Given the description of an element on the screen output the (x, y) to click on. 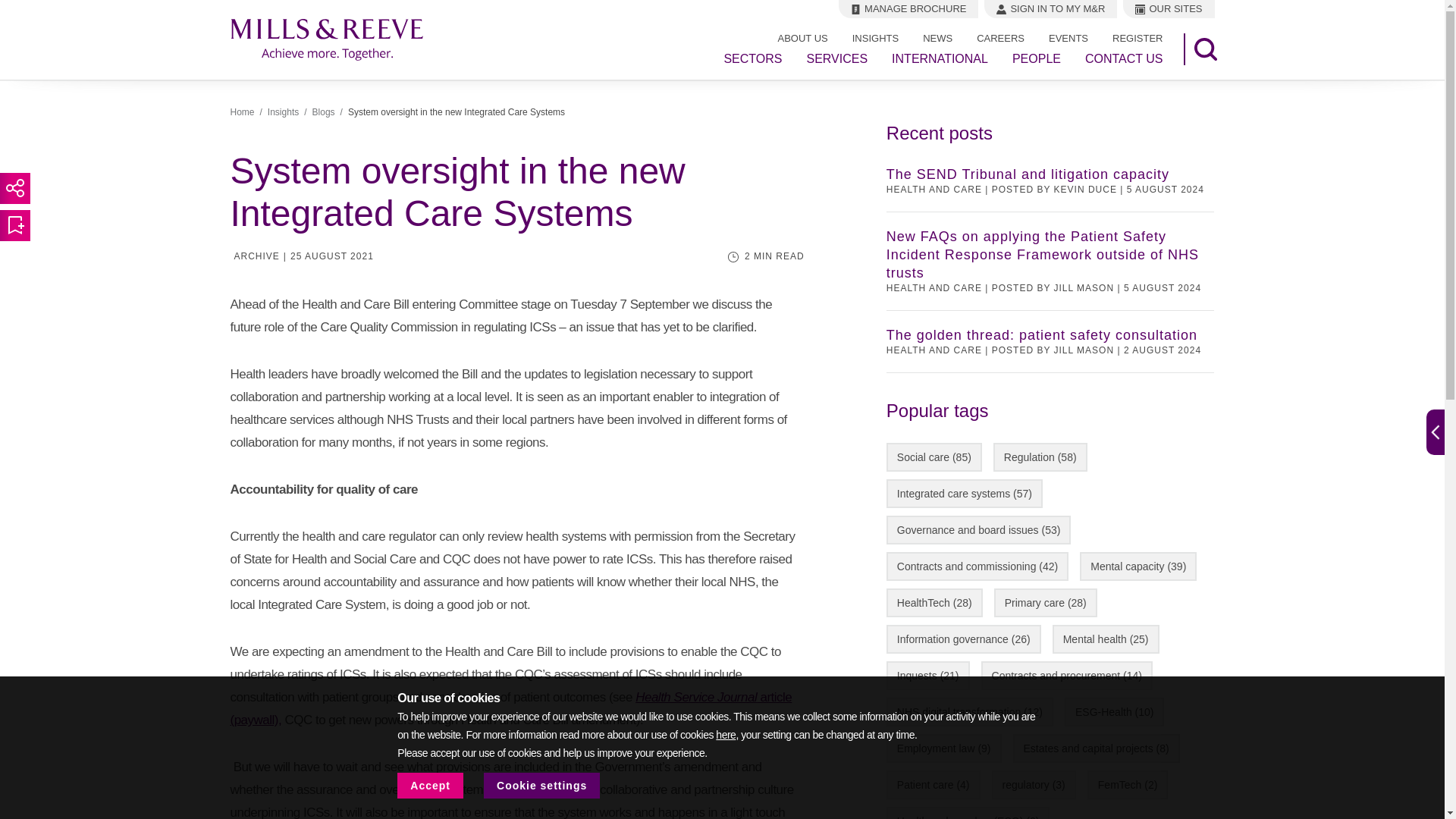
Our sites (1168, 9)
ABOUT US (802, 37)
SERVICES (836, 58)
PEOPLE (1036, 58)
CONTACT US (1123, 58)
Blogs (323, 112)
Manage Brochure (908, 9)
CAREERS (999, 37)
NEWS (937, 37)
SECTORS (752, 58)
